Given the description of an element on the screen output the (x, y) to click on. 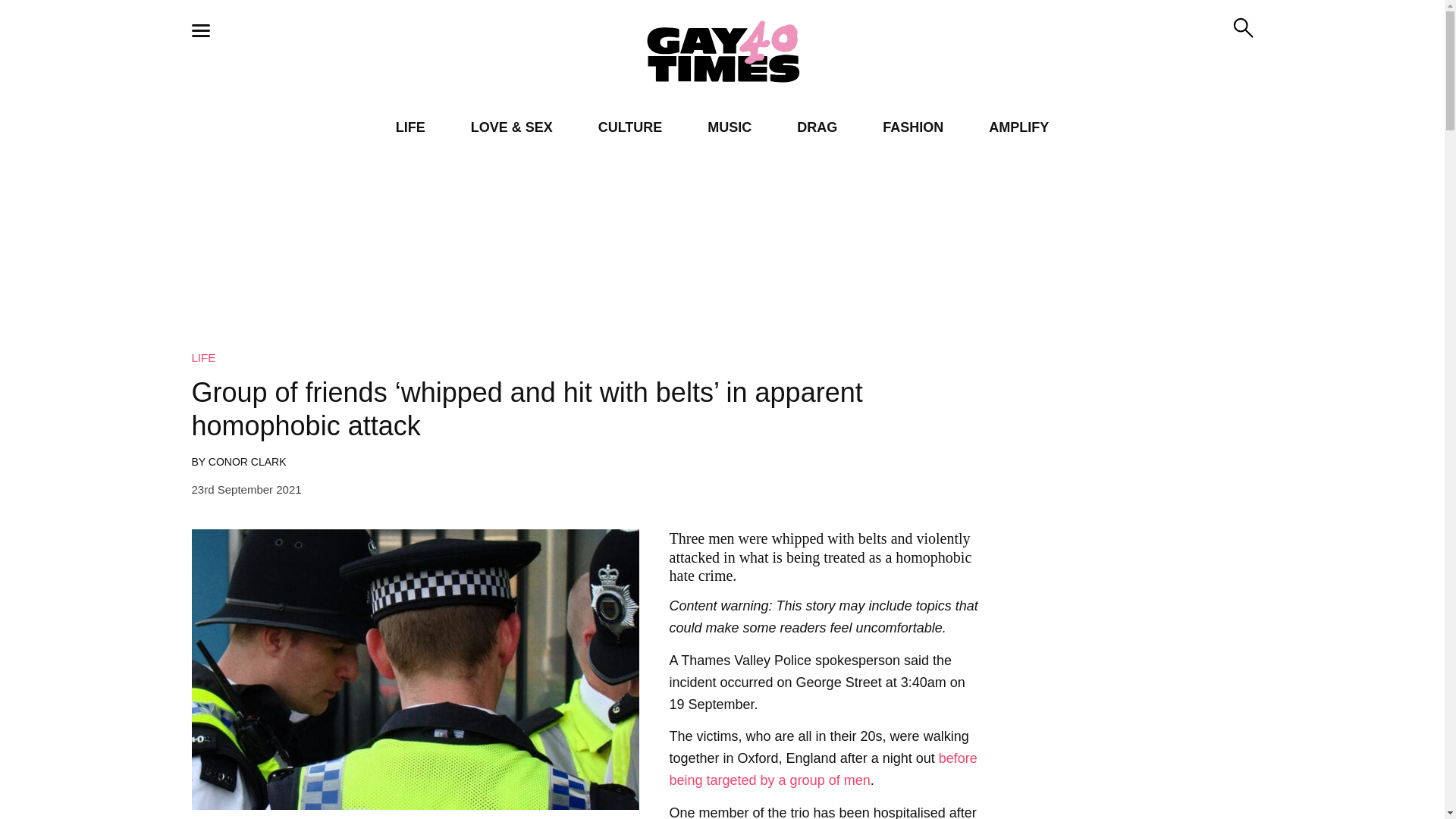
LIFE (202, 357)
CULTURE (630, 127)
DRAG (816, 127)
MUSIC (729, 127)
FASHION (912, 127)
LIFE (410, 127)
3rd party ad content (1130, 573)
CONOR CLARK (247, 461)
AMPLIFY (1018, 127)
